Given the description of an element on the screen output the (x, y) to click on. 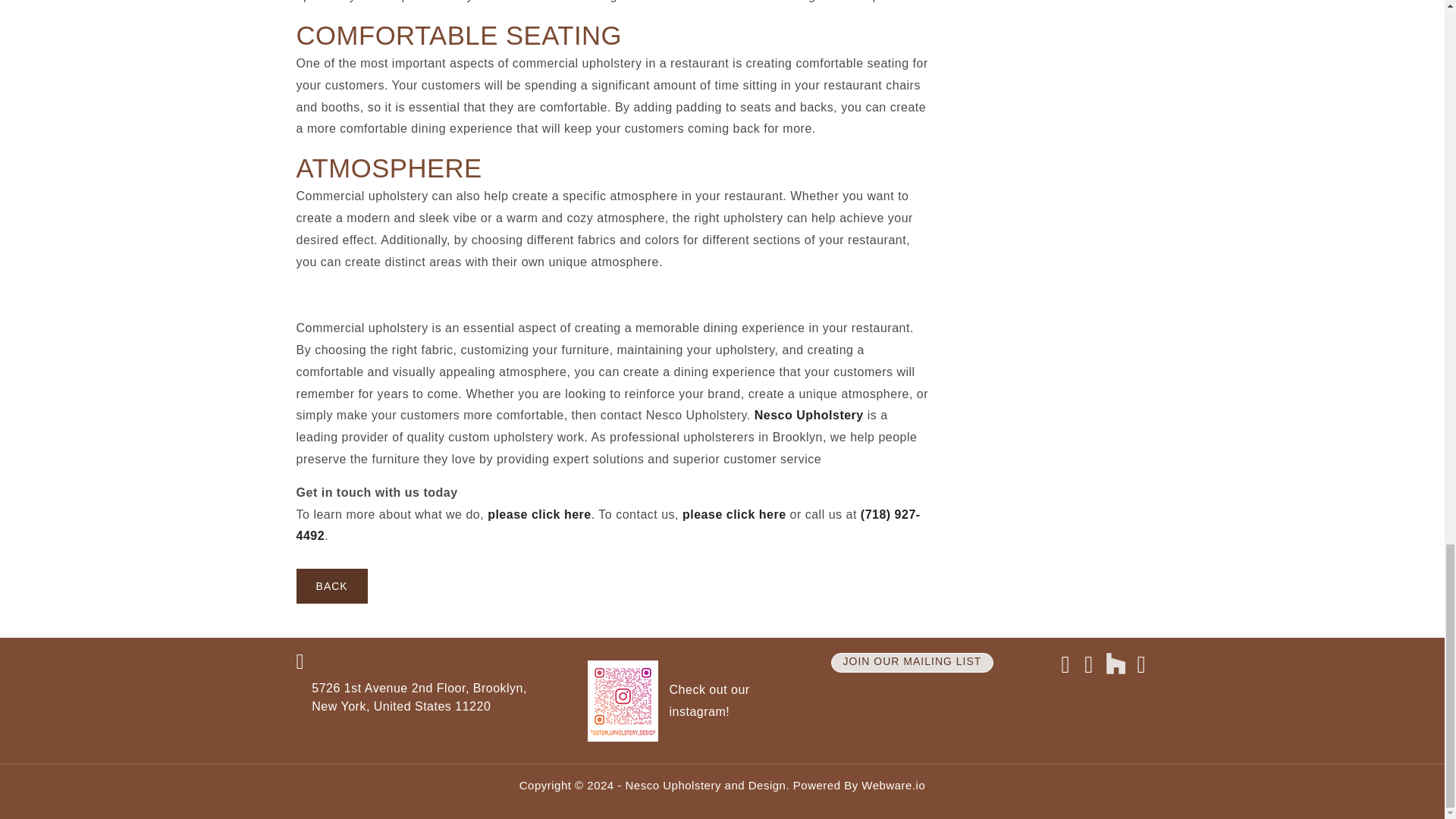
BACK (332, 585)
Nesco Upholstery (808, 414)
please click here (734, 513)
please click here (539, 513)
